Given the description of an element on the screen output the (x, y) to click on. 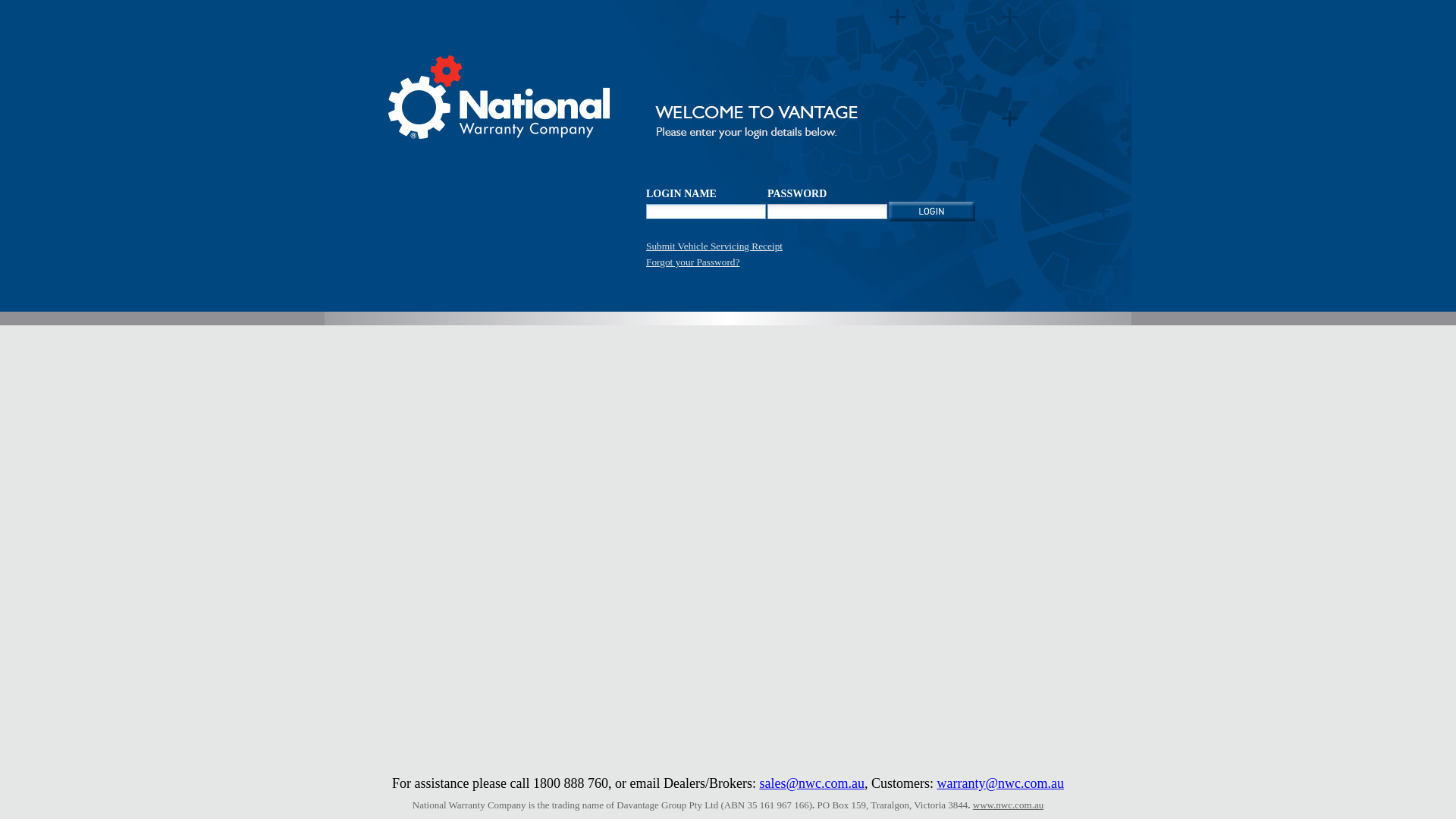
Forgot your Password? Element type: text (692, 261)
www.nwc.com.au Element type: text (1007, 804)
Submit Vehicle Servicing Receipt Element type: text (714, 245)
sales@nwc.com.au Element type: text (811, 782)
warranty@nwc.com.au Element type: text (999, 782)
